Given the description of an element on the screen output the (x, y) to click on. 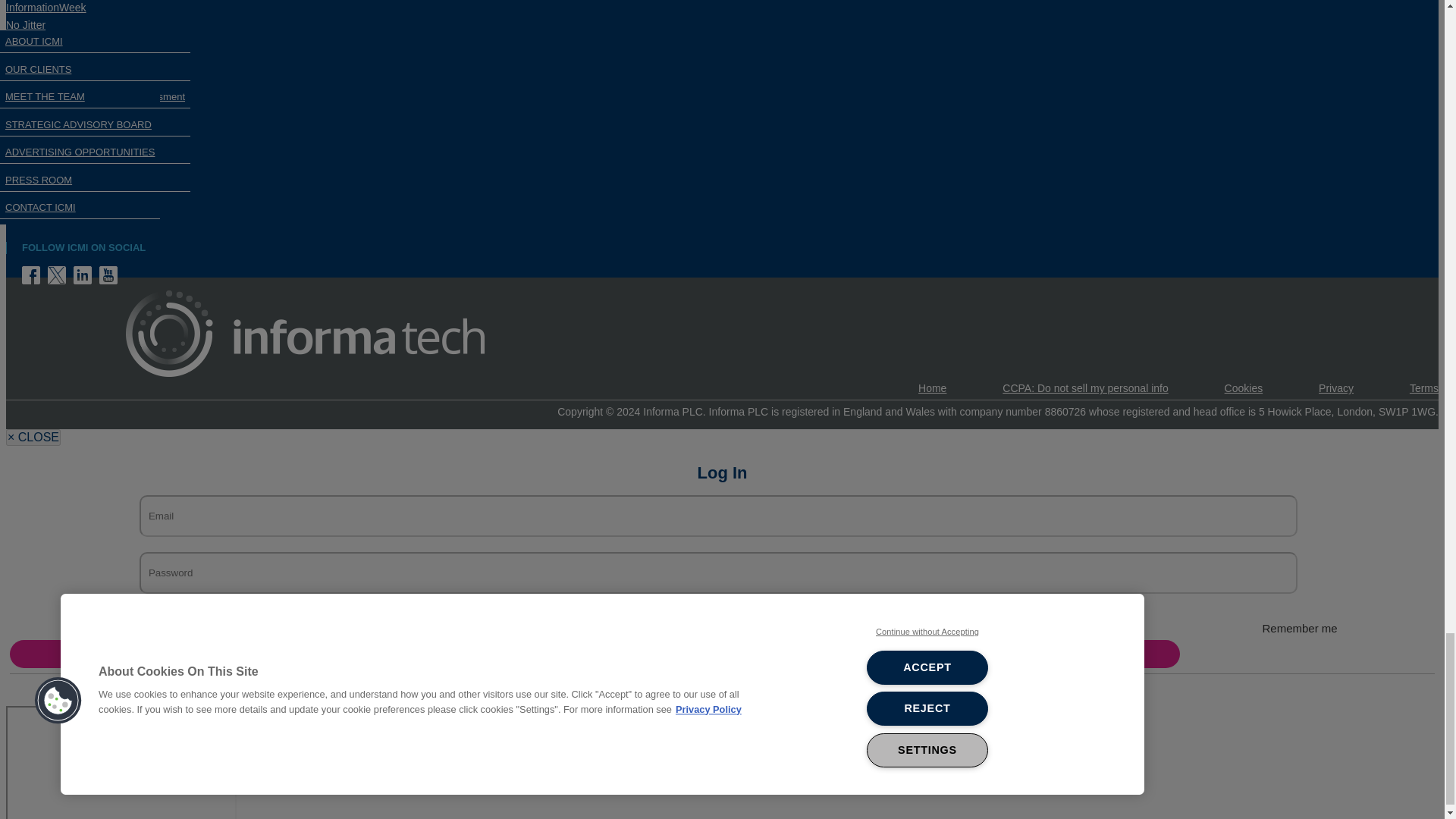
Contact Us (31, 166)
Advertising (31, 201)
No Jitter (25, 24)
About ICMI (27, 184)
on (684, 620)
Omdia (21, 113)
ITPro Today (33, 96)
Press (34, 218)
ICMI (17, 78)
Informationweek (45, 7)
